Given the description of an element on the screen output the (x, y) to click on. 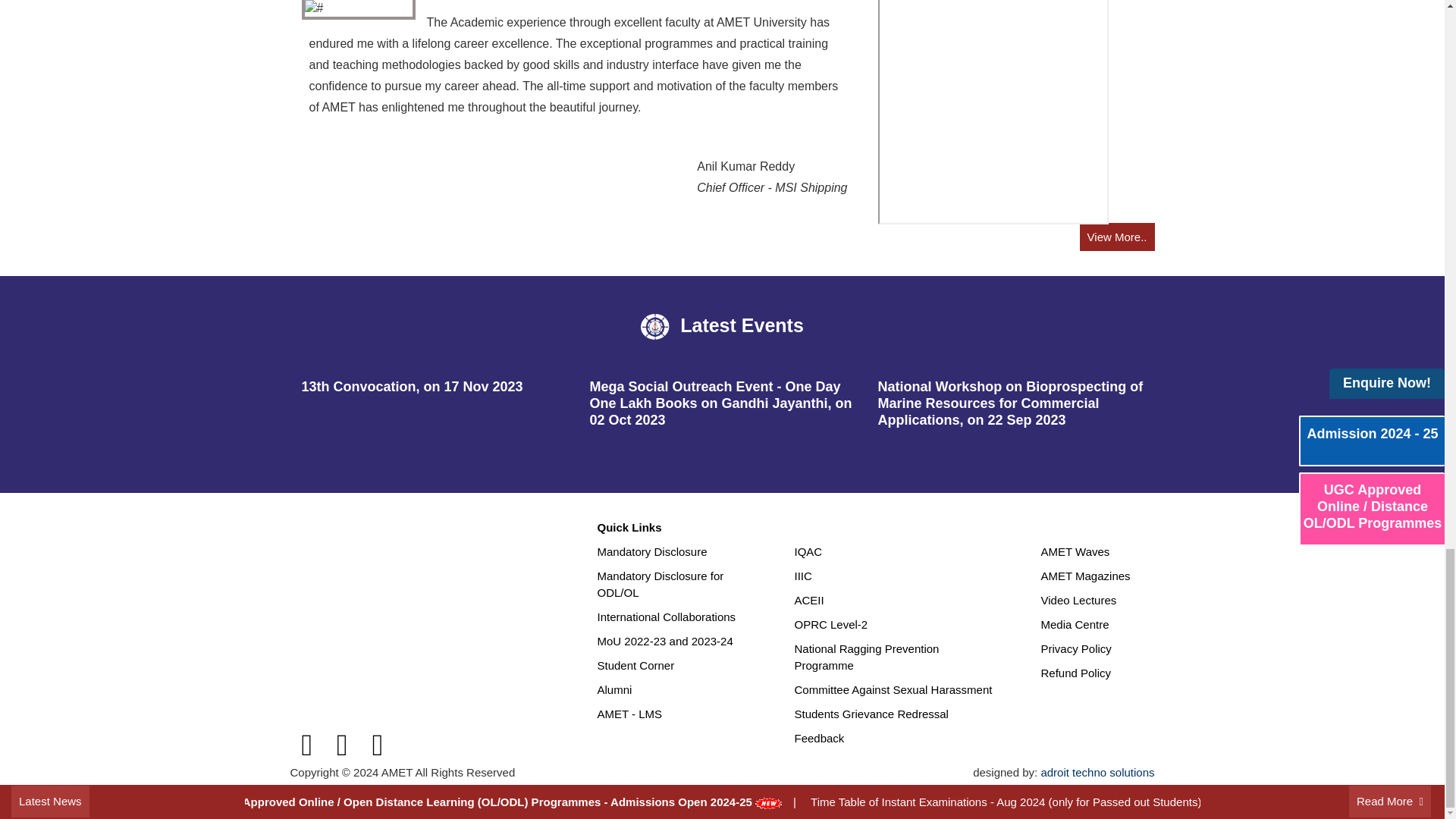
Youtube (377, 745)
Instagram (341, 745)
Facebook (306, 745)
